Given the description of an element on the screen output the (x, y) to click on. 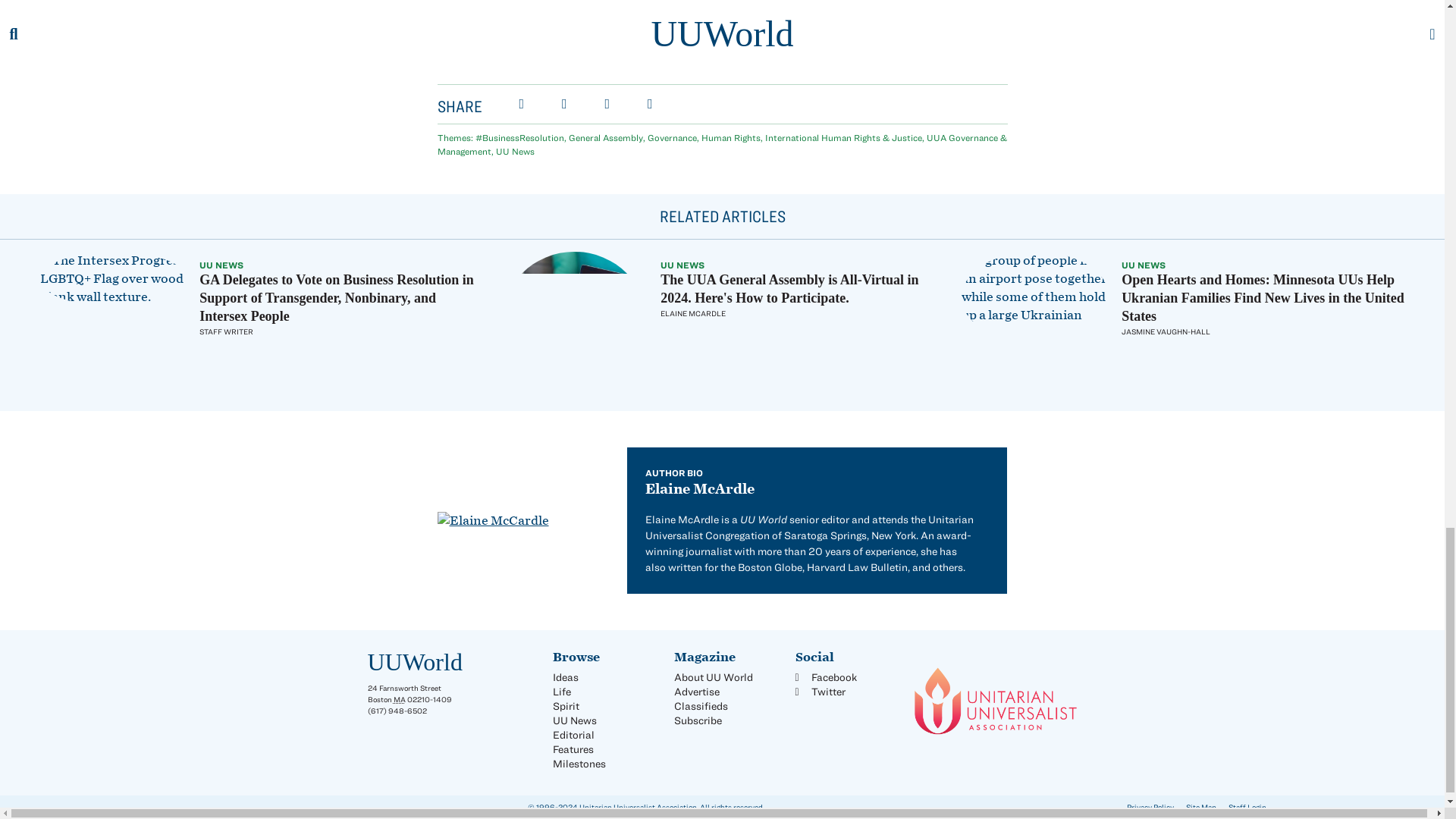
Human Rights (730, 136)
Governance (672, 136)
UUWorld (413, 661)
UU World: liberal religion and life (413, 661)
Courtesy of Sheila Callander (1034, 297)
General Assembly (606, 136)
Massachusetts (398, 698)
